Given the description of an element on the screen output the (x, y) to click on. 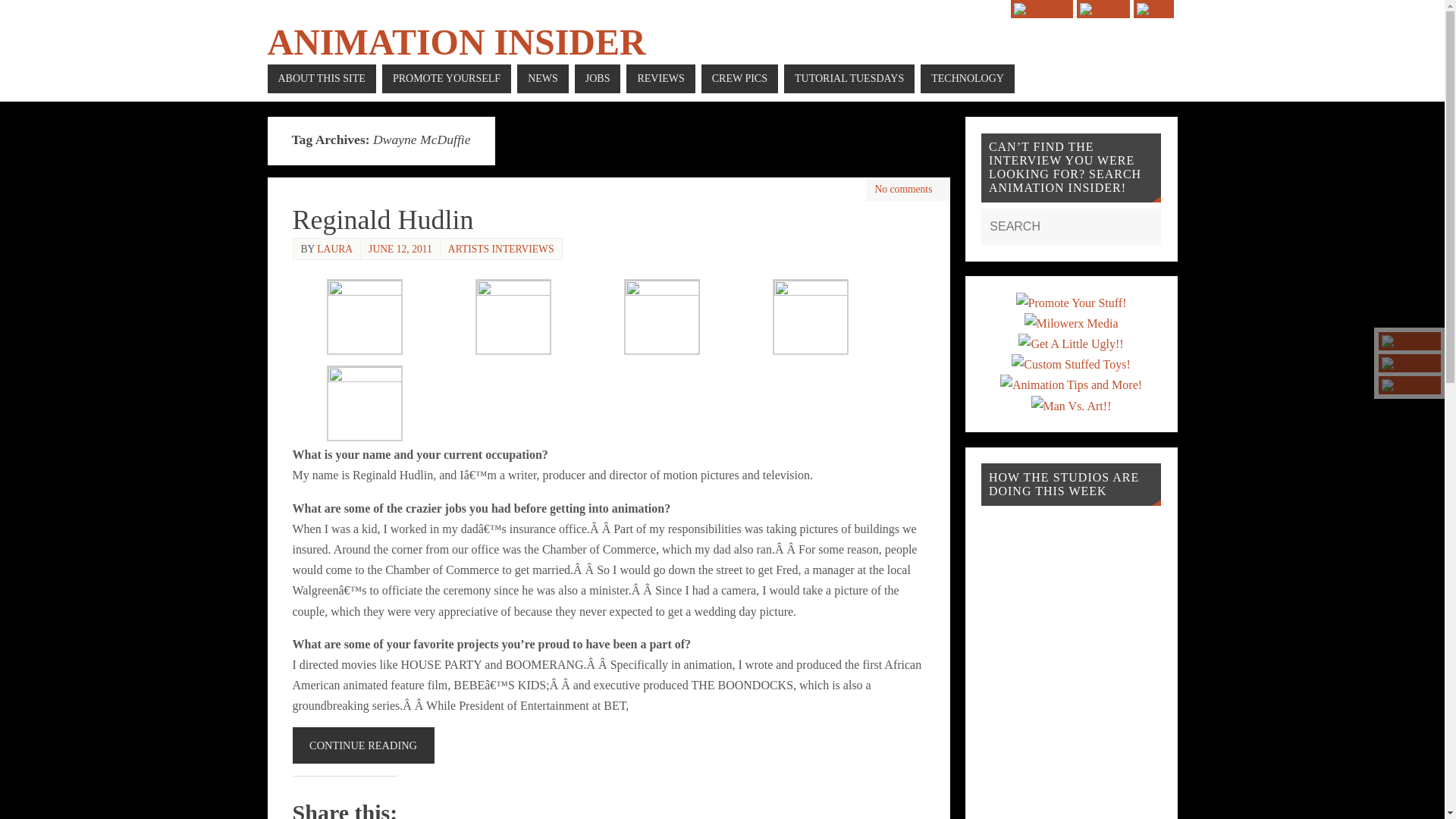
View all posts by Laura (334, 247)
LAURA (334, 247)
PROMOTE YOURSELF (446, 78)
NEWS (542, 78)
Reginald Hudlin (383, 219)
No comments (904, 188)
Permalink to Reginald Hudlin (383, 219)
RSS (1409, 384)
CREW PICS (739, 78)
ARTISTS INTERVIEWS (501, 247)
RSS (1153, 9)
CONTINUE READING (362, 745)
Animation Insider (455, 42)
YouTube (1041, 9)
ABOUT THIS SITE (320, 78)
